Given the description of an element on the screen output the (x, y) to click on. 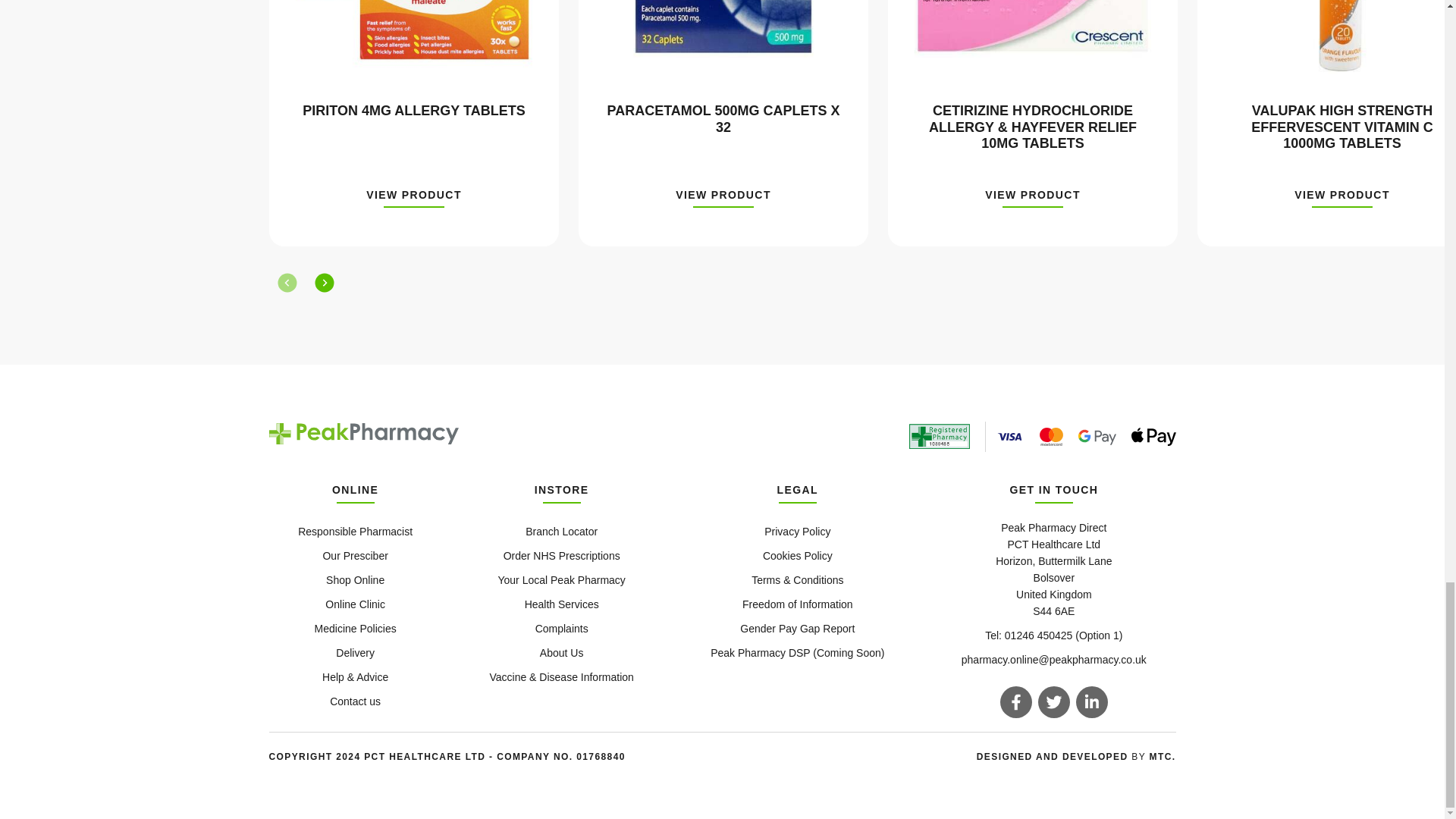
General Pharmaceutical Council (938, 436)
View product (414, 198)
View product (1032, 198)
View product (723, 198)
Opens in a new window (1163, 756)
logo (362, 433)
View product (1342, 198)
Opens in a new window (1053, 756)
